Given the description of an element on the screen output the (x, y) to click on. 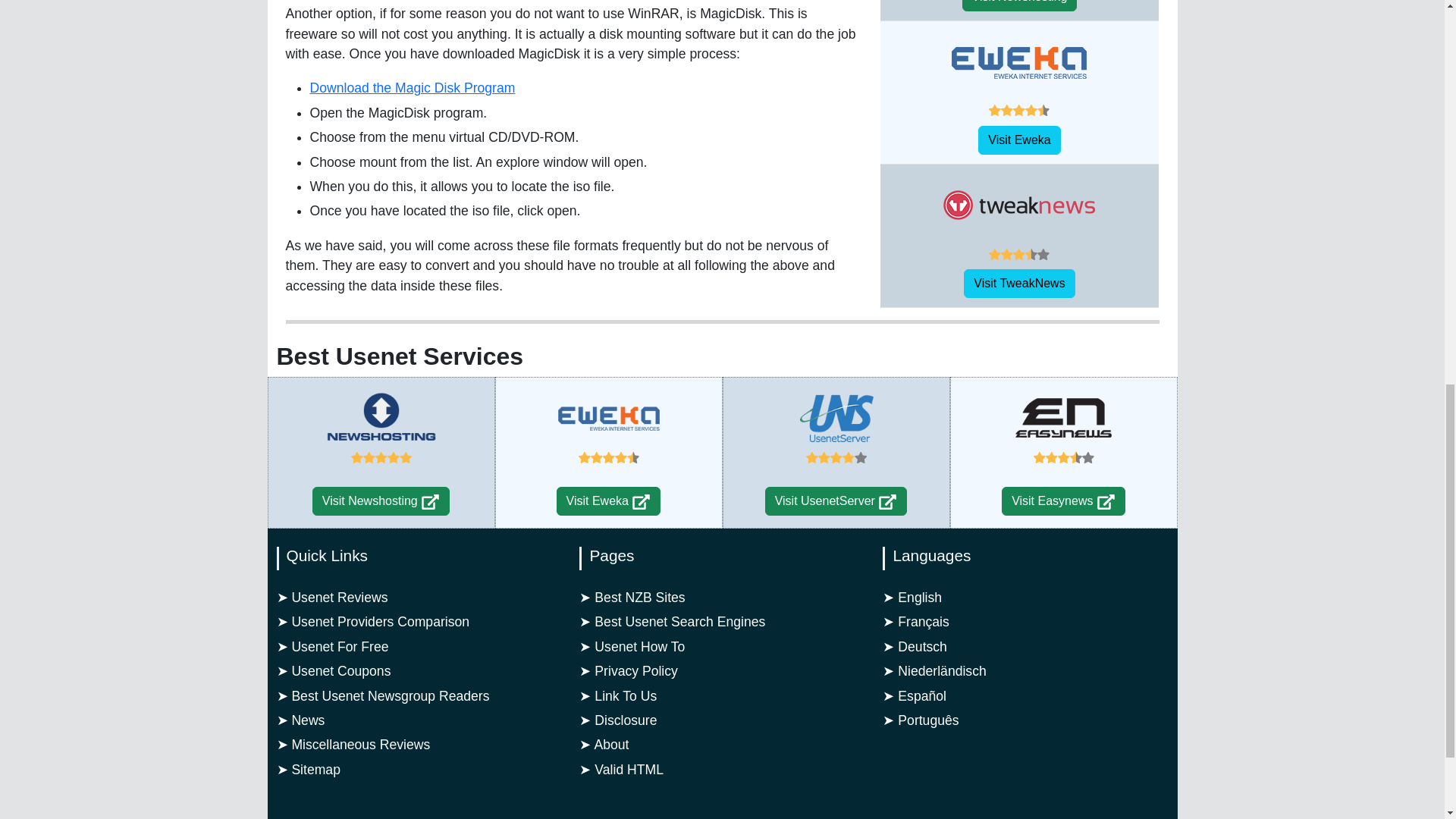
Visit Newshosting (429, 501)
Easynews (1064, 417)
Newshosting (381, 417)
Best Usenet Services (399, 356)
Visit Easynews (1063, 500)
Visit Eweka (640, 501)
Visit UsenetServer (886, 501)
Eweka (608, 417)
Visit Easynews (1105, 501)
UsenetServer (835, 417)
Visit UsenetServer (836, 500)
Visit Eweka (608, 500)
Download the Magic Disk Program (411, 87)
Visit Newshosting (381, 500)
